Given the description of an element on the screen output the (x, y) to click on. 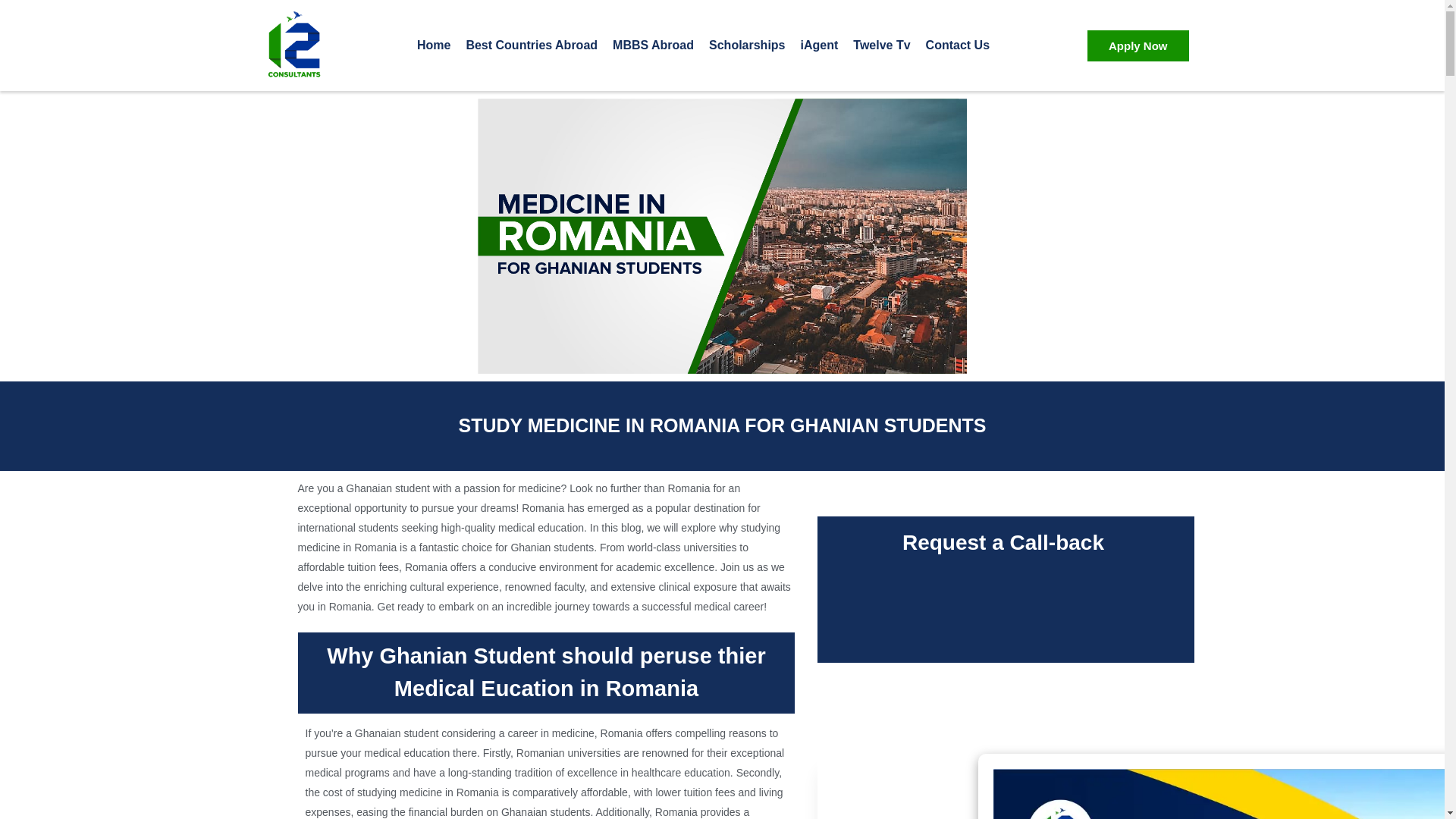
iAgent (819, 45)
Scholarships (746, 45)
Twelve Tv (881, 45)
Home (432, 45)
Contact Us (958, 45)
Best Countries Abroad (530, 45)
MBBS Abroad (653, 45)
